Given the description of an element on the screen output the (x, y) to click on. 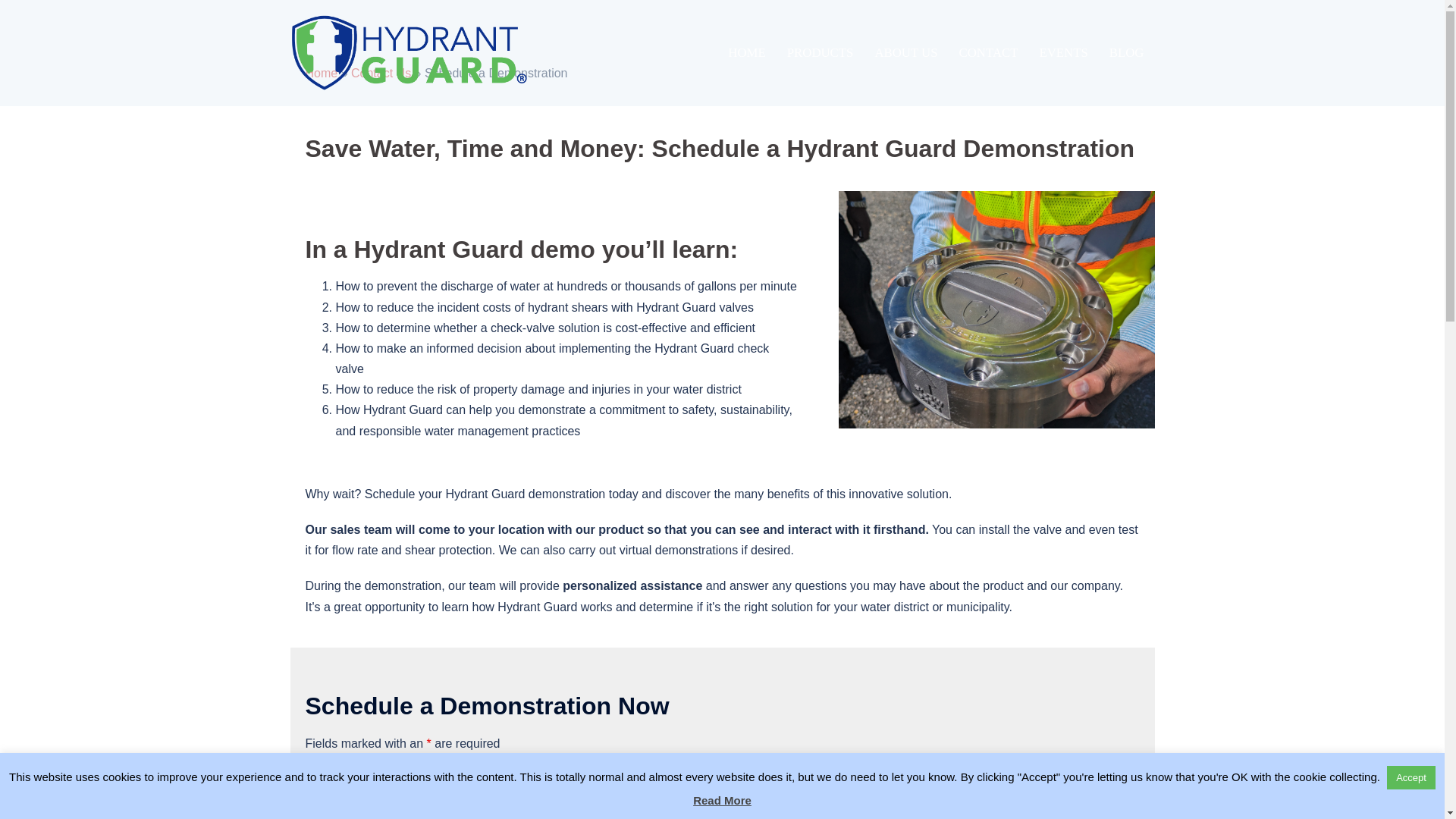
HOME (746, 53)
BLOG (1126, 53)
Hydrant Guard (408, 51)
EVENTS (1063, 53)
Contact Us (380, 72)
PRODUCTS (820, 53)
Home (320, 72)
CONTACT (988, 53)
ABOUT US (906, 53)
